Given the description of an element on the screen output the (x, y) to click on. 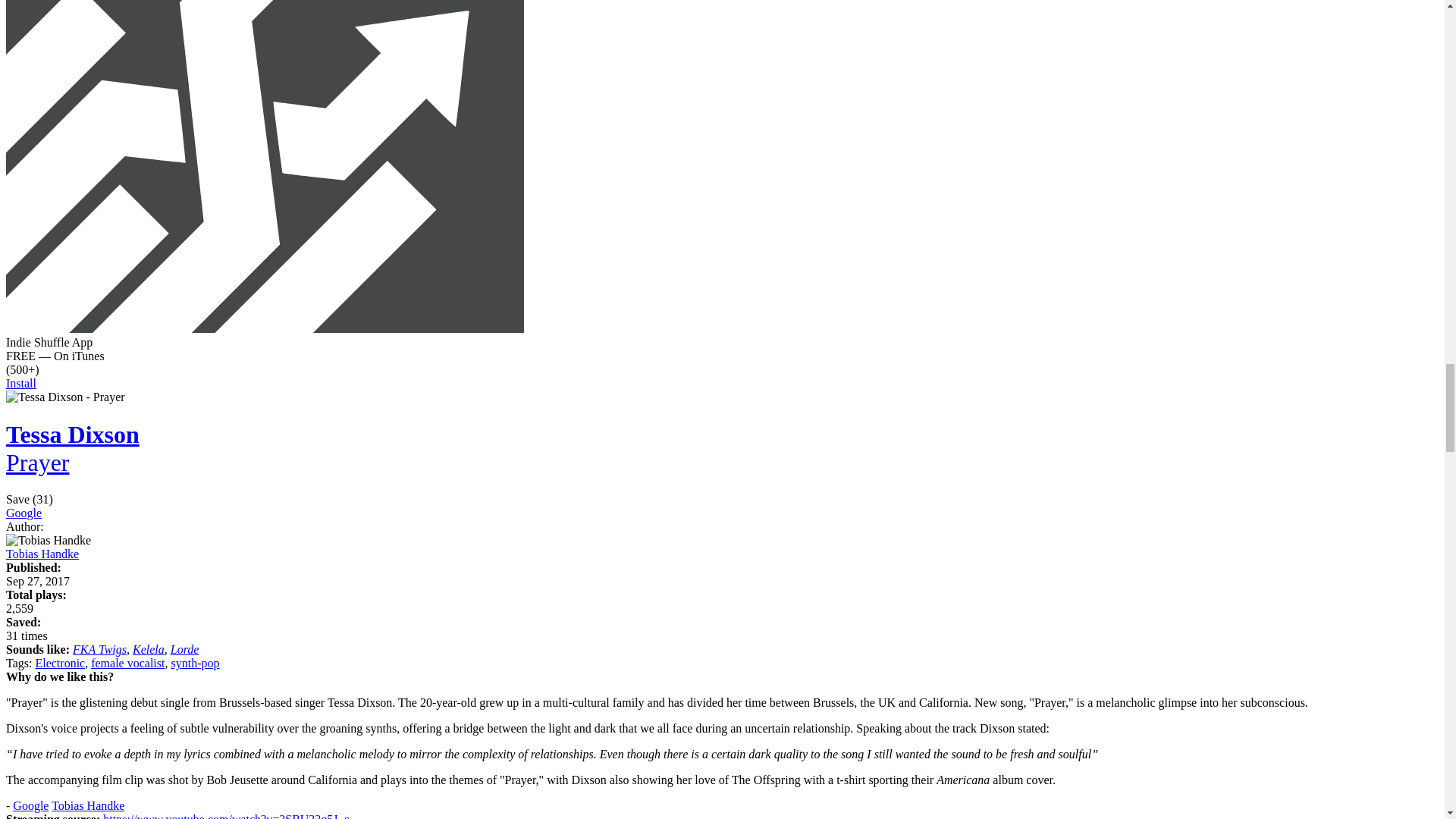
Google (23, 512)
Lorde (184, 649)
Tobias Handke (86, 805)
female vocalist (127, 662)
FKA Twigs (99, 649)
synth-pop (194, 662)
Electronic (59, 662)
View chart (19, 608)
Install iPhone App (264, 328)
Electronic Songs (59, 662)
